Given the description of an element on the screen output the (x, y) to click on. 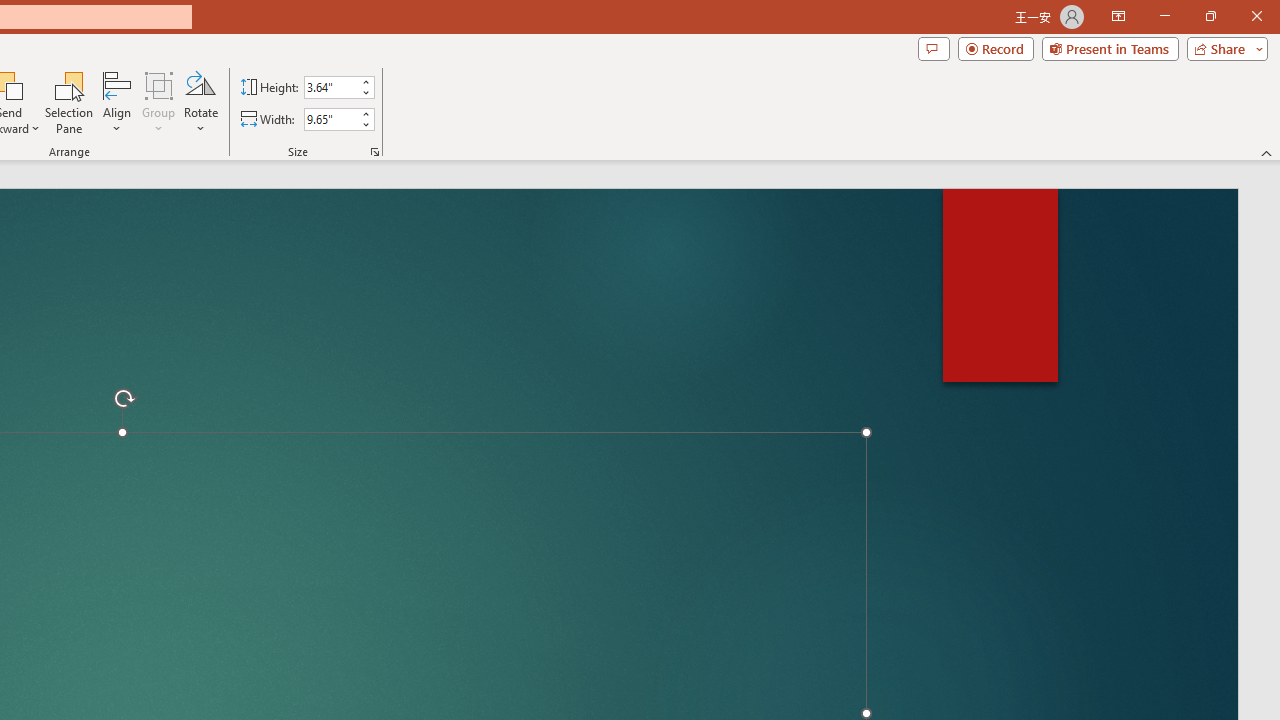
Group (159, 102)
Close (1256, 16)
Rotate (200, 102)
Restore Down (1210, 16)
